Given the description of an element on the screen output the (x, y) to click on. 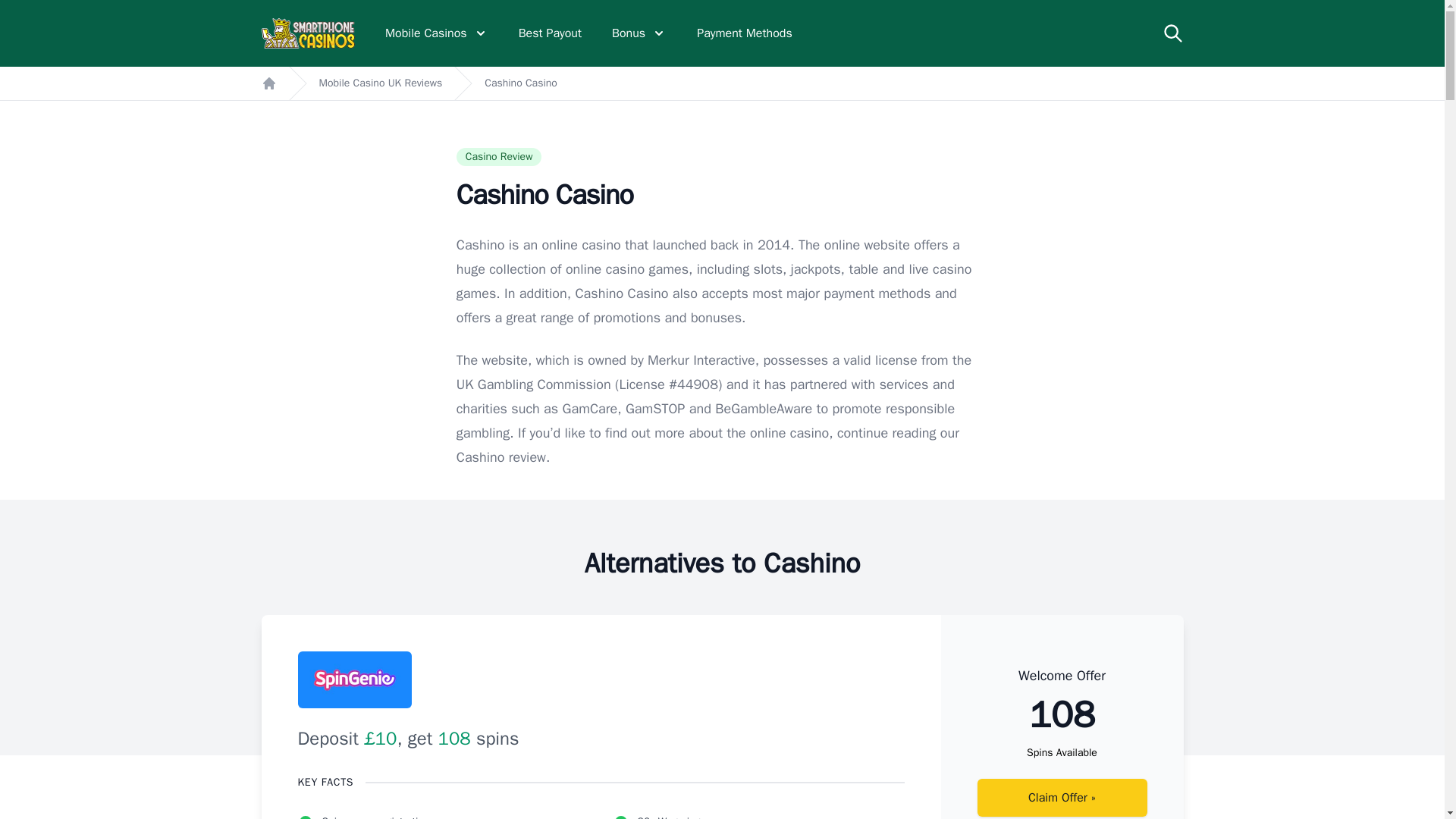
Home (268, 83)
Bonus (638, 33)
Payment Methods (744, 33)
SmartphoneCasinos.co.uk Logo (307, 33)
Mobile Casinos (436, 33)
Best Payout (549, 33)
SmartphoneCasinos.co.uk (307, 33)
Mobile Casino UK Reviews (380, 83)
